Given the description of an element on the screen output the (x, y) to click on. 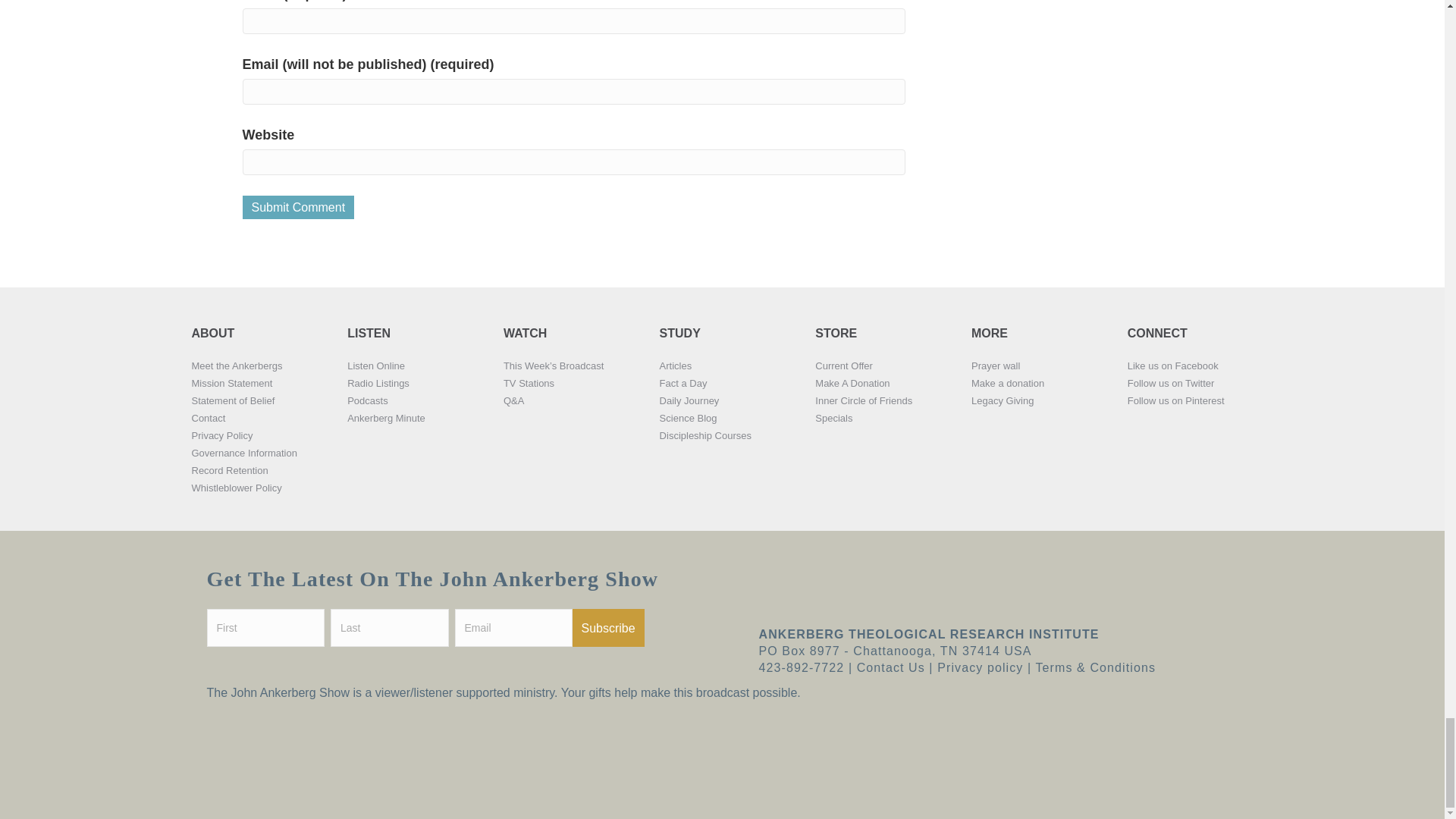
Submit Comment (299, 207)
Subscribe (607, 628)
